Given the description of an element on the screen output the (x, y) to click on. 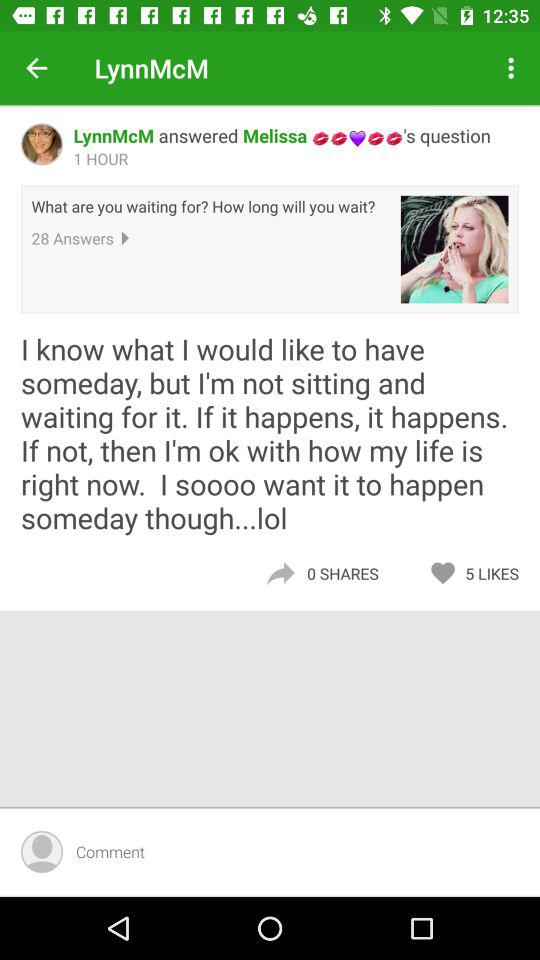
select the item below the lynnmcm answered melissa (454, 249)
